Given the description of an element on the screen output the (x, y) to click on. 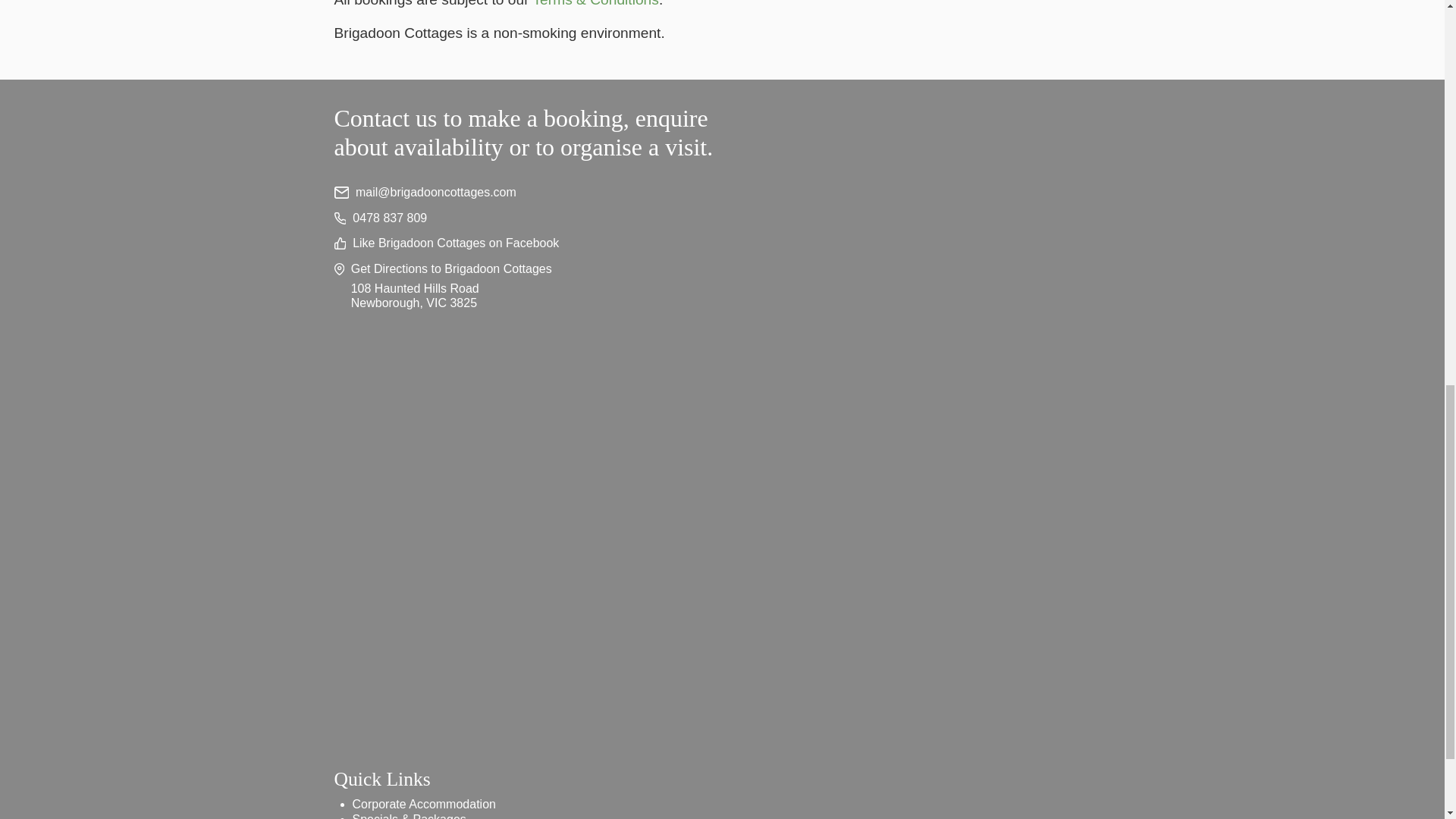
0478 837 809 (721, 218)
Like Brigadoon Cottages on Facebook (721, 243)
Corporate Accommodation (423, 803)
